Given the description of an element on the screen output the (x, y) to click on. 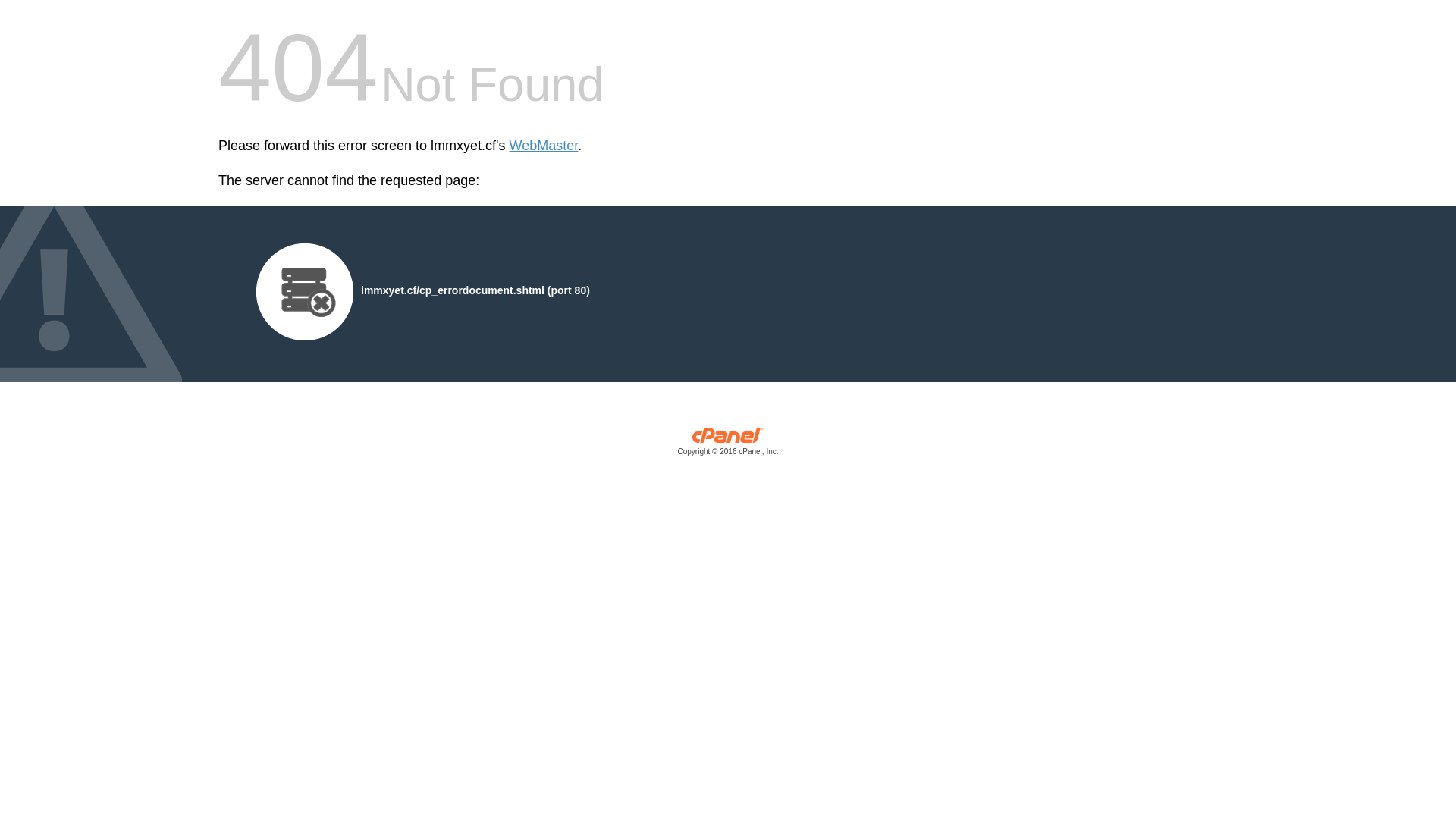
WebMaster Element type: text (543, 145)
